Given the description of an element on the screen output the (x, y) to click on. 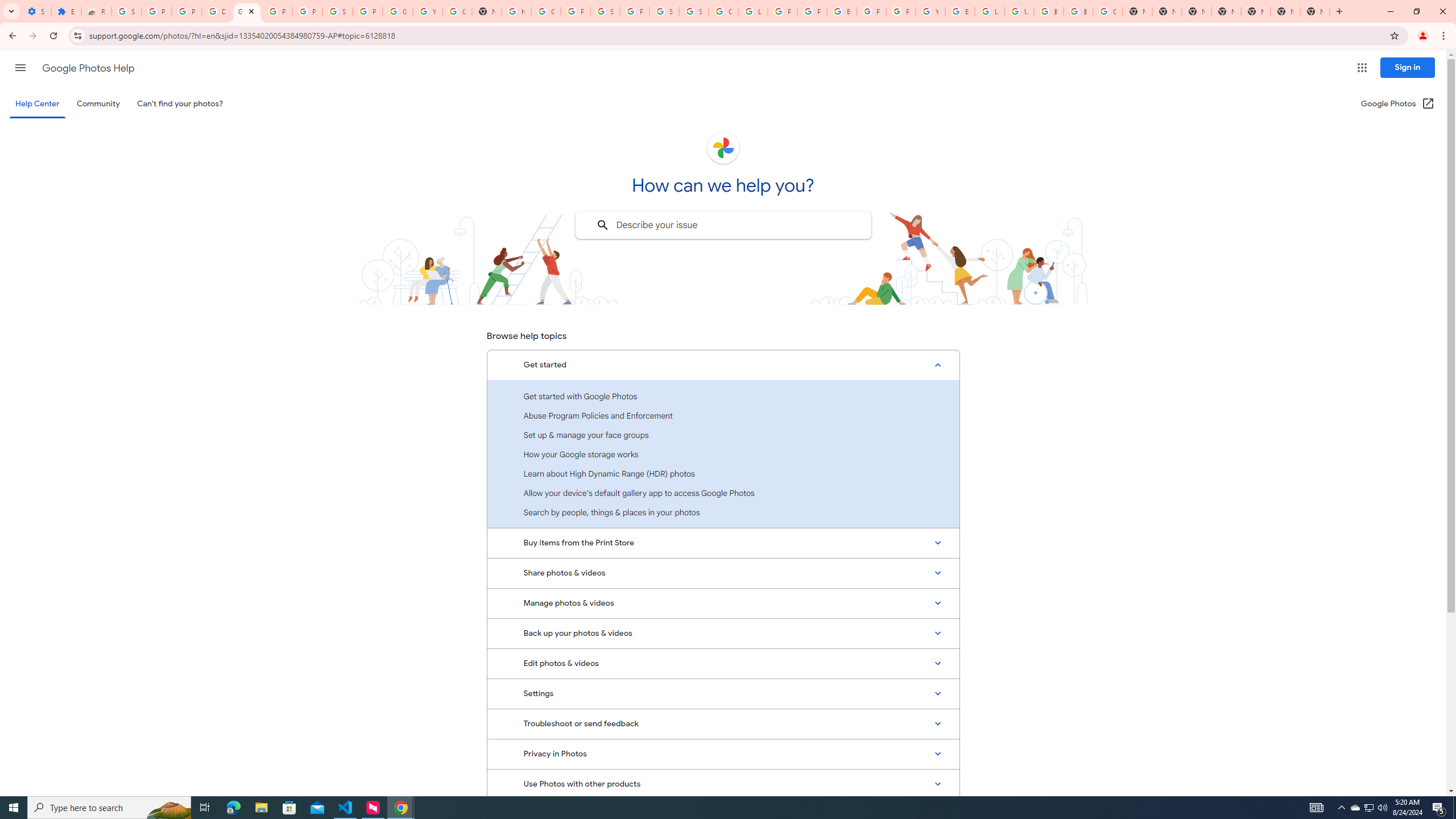
Google Images (1107, 11)
Privacy Help Center - Policies Help (782, 11)
Sign in - Google Accounts (664, 11)
Get started, Expanded list with 7 items (722, 365)
